Given the description of an element on the screen output the (x, y) to click on. 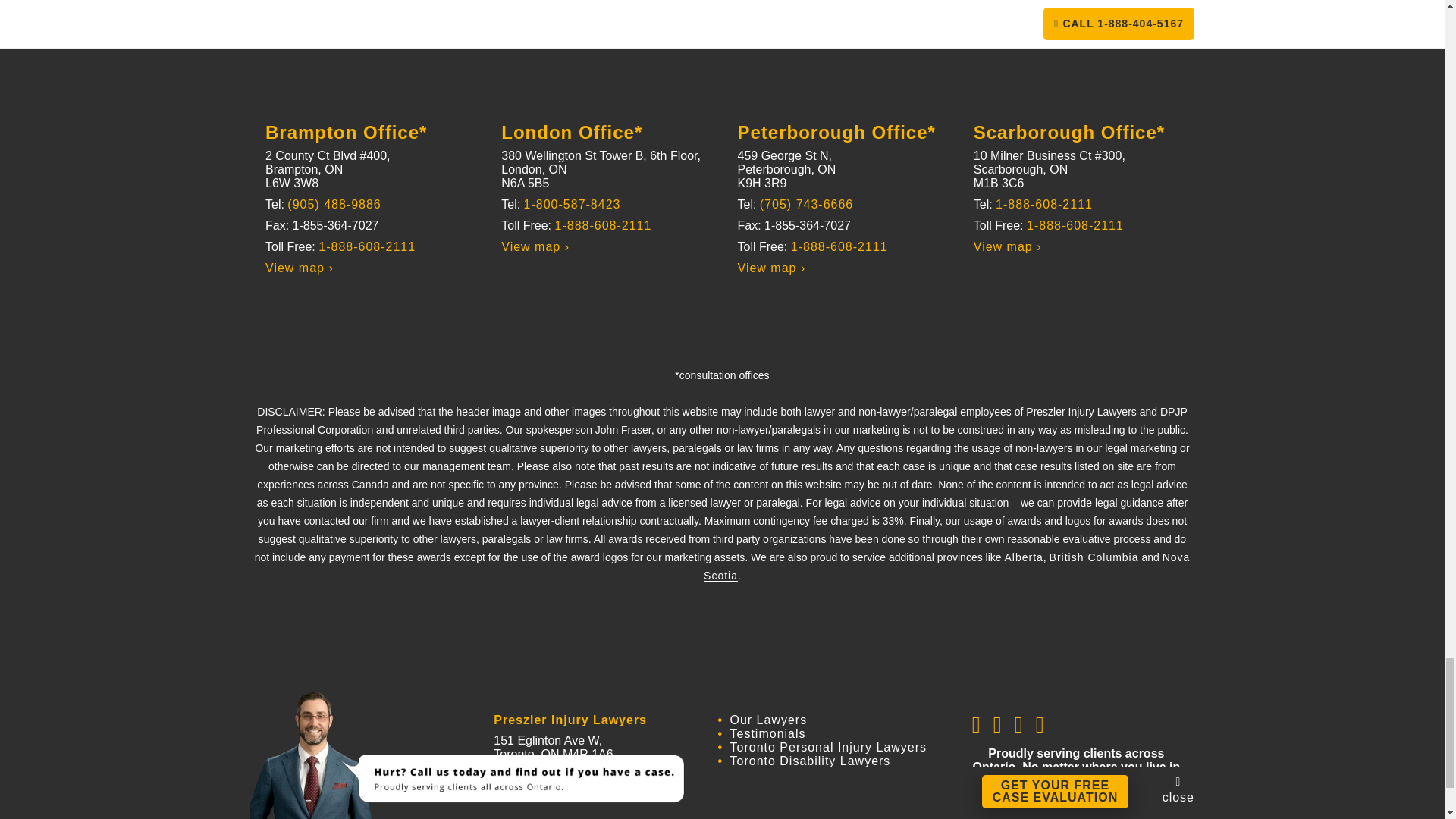
Follow on Facebook (976, 724)
Follow on Instagram (1018, 724)
Follow on Twitter (997, 724)
Watch on YouTube (1040, 724)
